Given the description of an element on the screen output the (x, y) to click on. 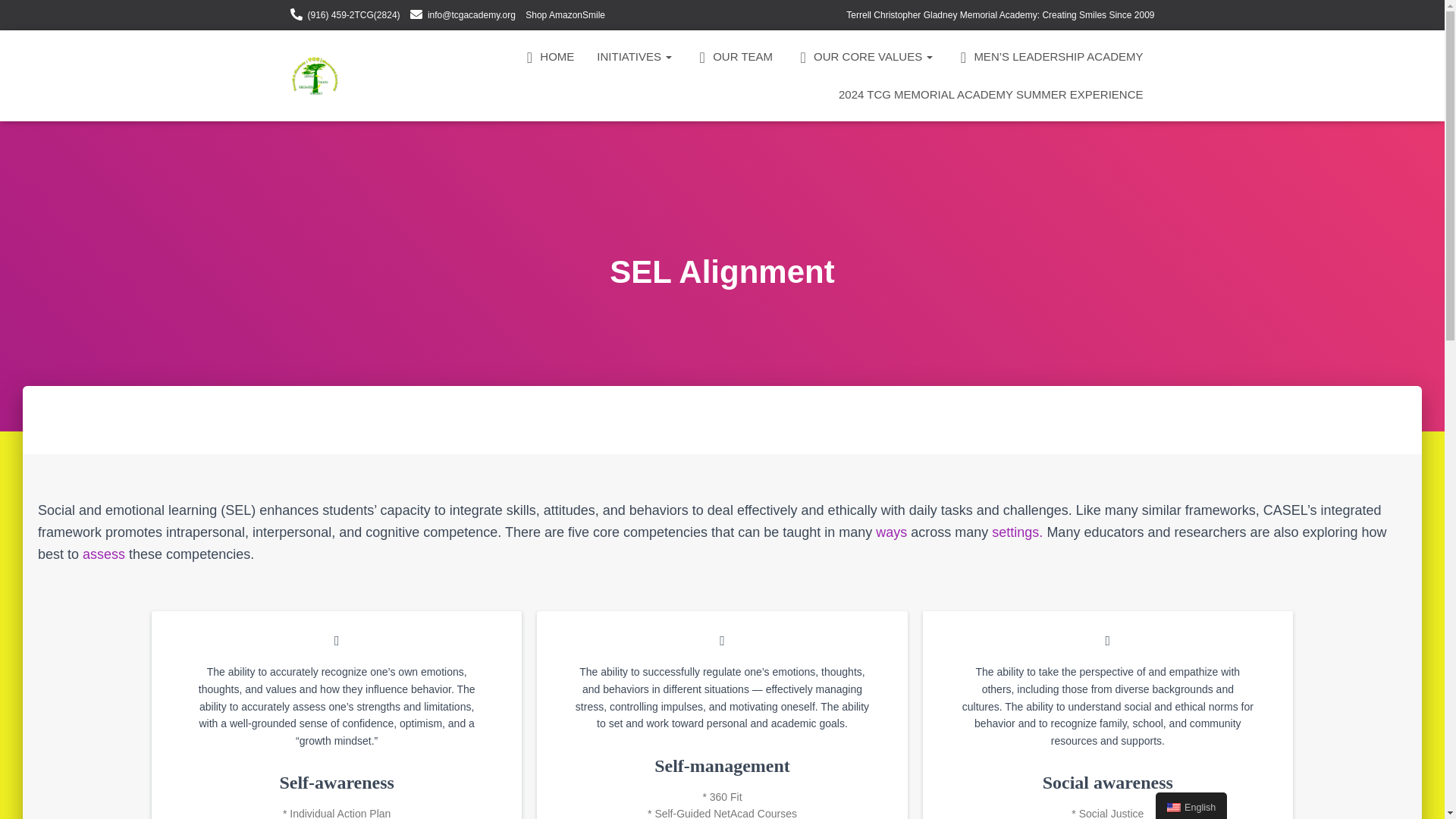
English (1191, 805)
2024 TCG MEMORIAL ACADEMY SUMMER EXPERIENCE (990, 94)
Our Team (733, 56)
2024 TCG Memorial Academy Summer Experience (990, 94)
Initiatives (633, 56)
Our Core Values (863, 56)
OUR CORE VALUES (863, 56)
assess (103, 554)
settings. (1016, 531)
Shop AmazonSmile (565, 15)
Terrell Christopher Gladney Memorial Academy (314, 75)
INITIATIVES (633, 56)
ways (891, 531)
Shop AmazonSmile (565, 15)
OUR TEAM (733, 56)
